Given the description of an element on the screen output the (x, y) to click on. 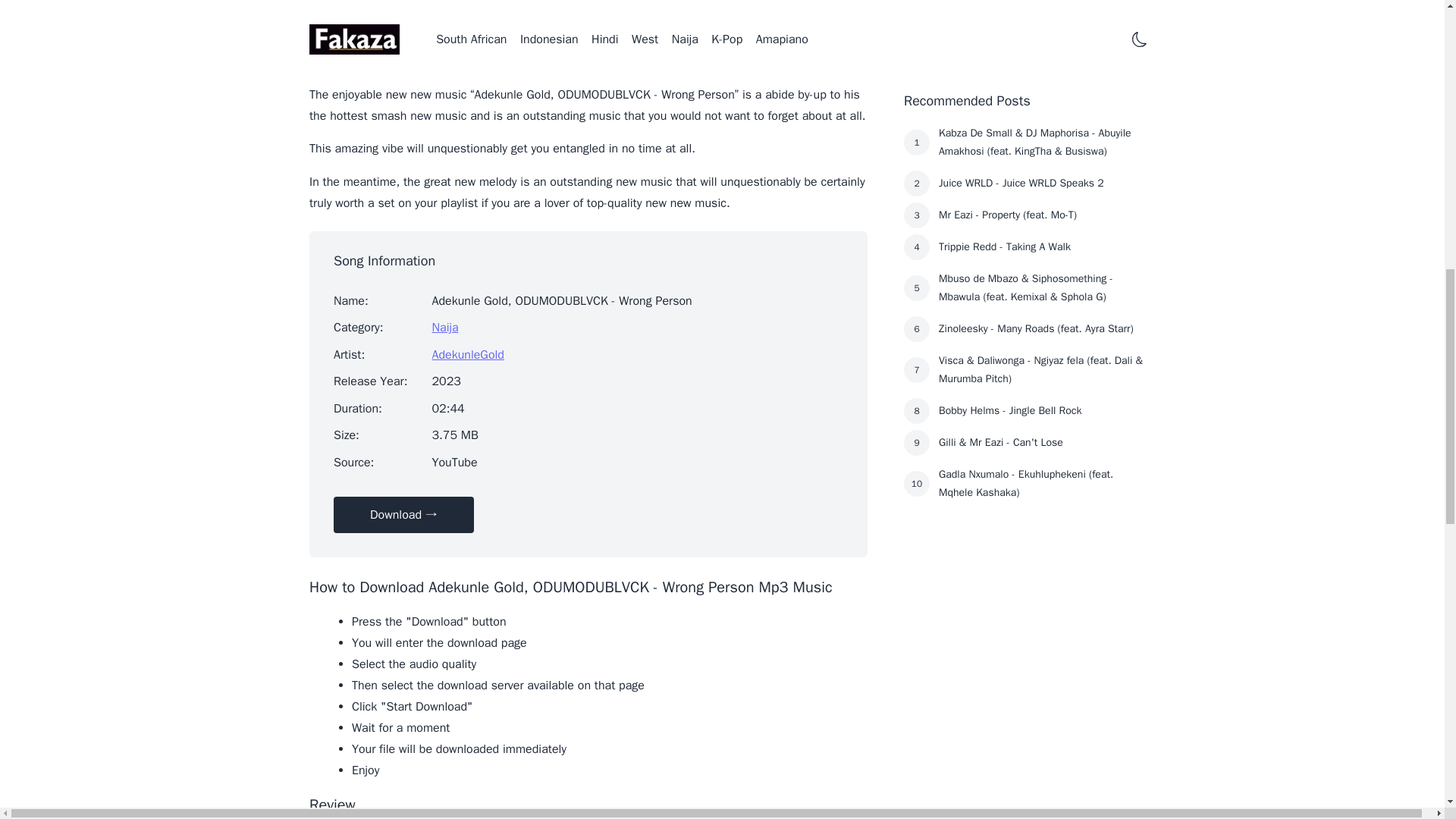
AdekunleGold (466, 354)
Naija (444, 327)
